Given the description of an element on the screen output the (x, y) to click on. 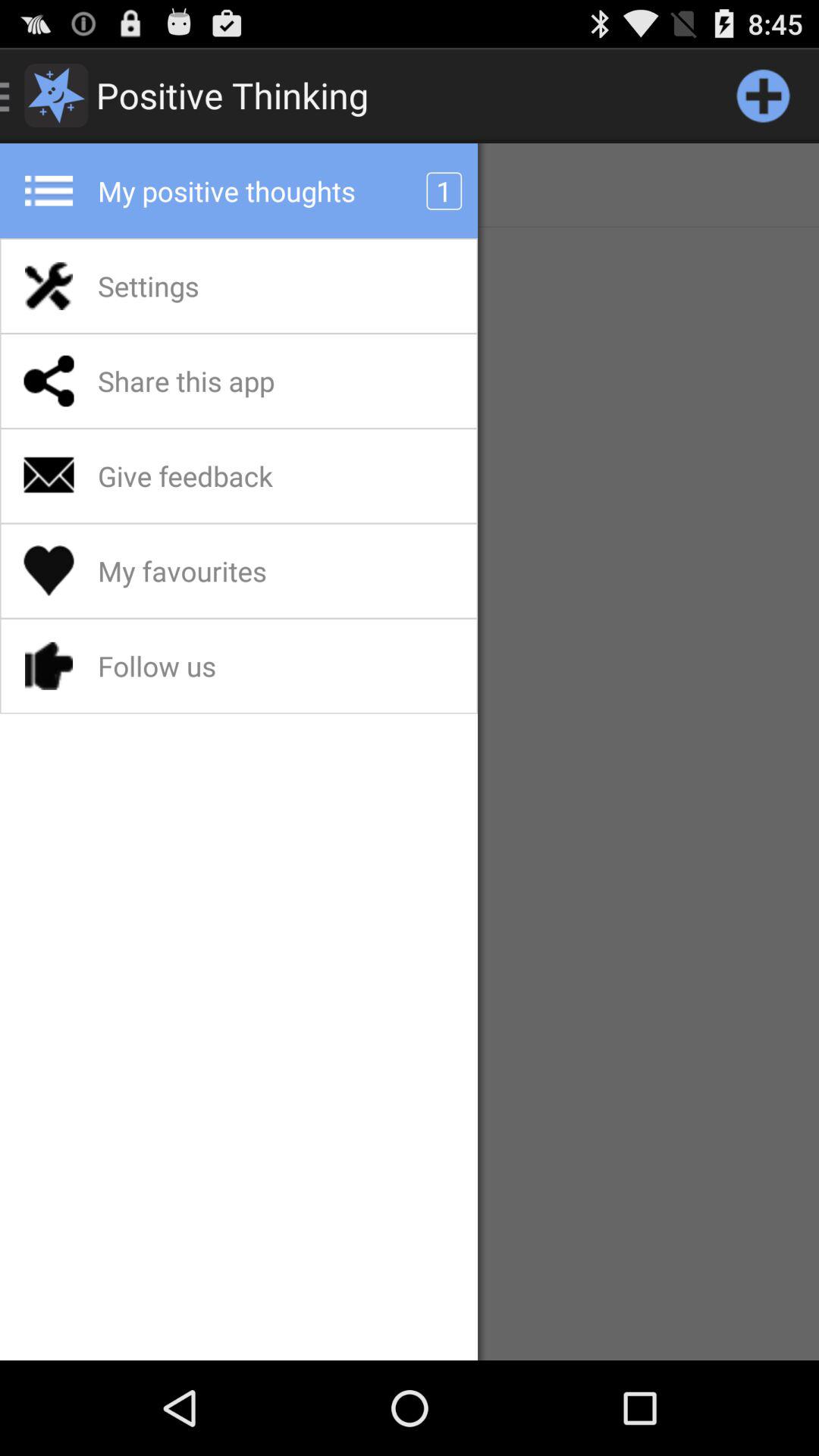
add a note/thought (763, 95)
